Given the description of an element on the screen output the (x, y) to click on. 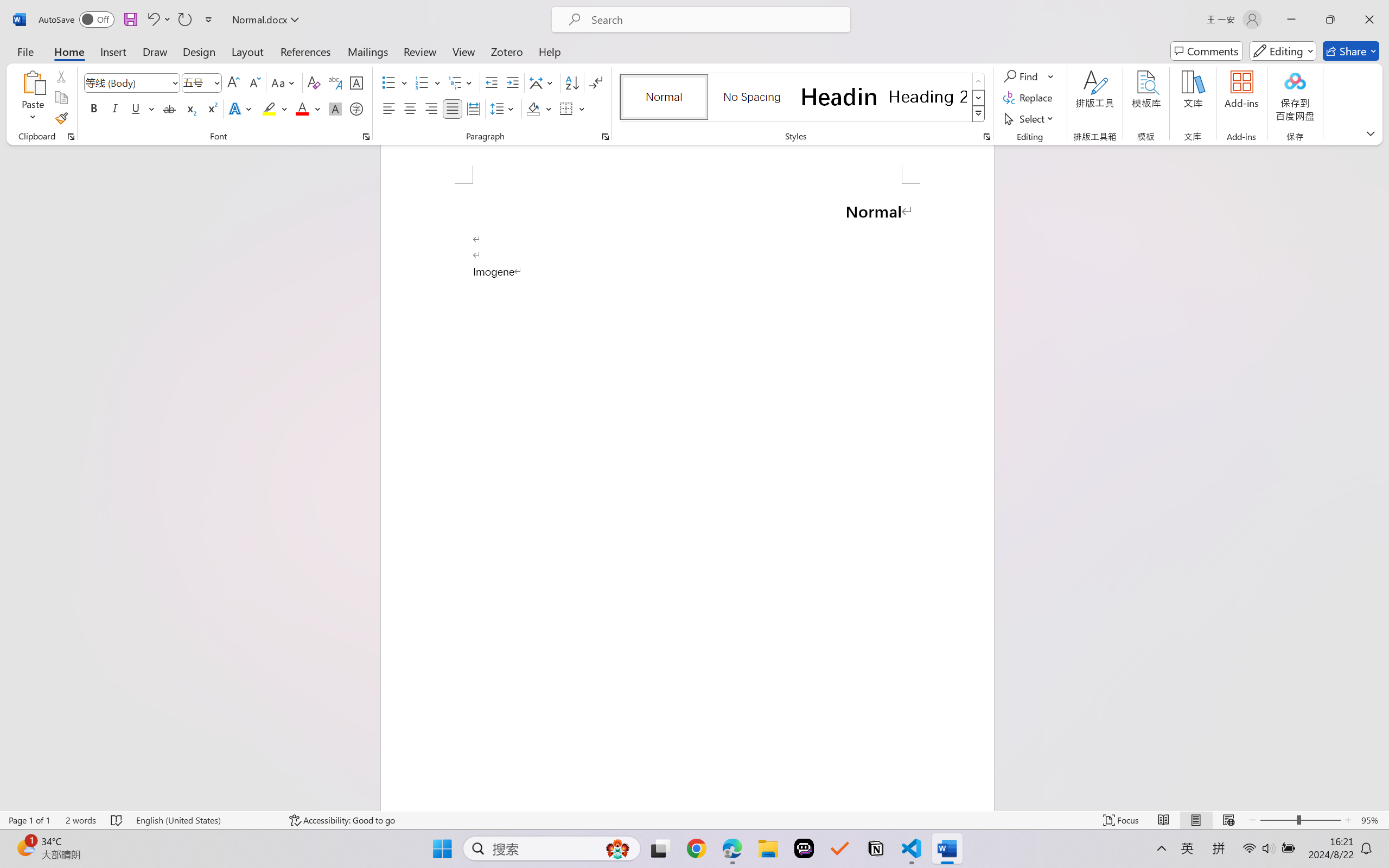
Shading RGB(0, 0, 0) (533, 108)
Row up (978, 81)
Align Right (431, 108)
Mode (1283, 50)
Shading (539, 108)
Multilevel List (461, 82)
Center (409, 108)
